Given the description of an element on the screen output the (x, y) to click on. 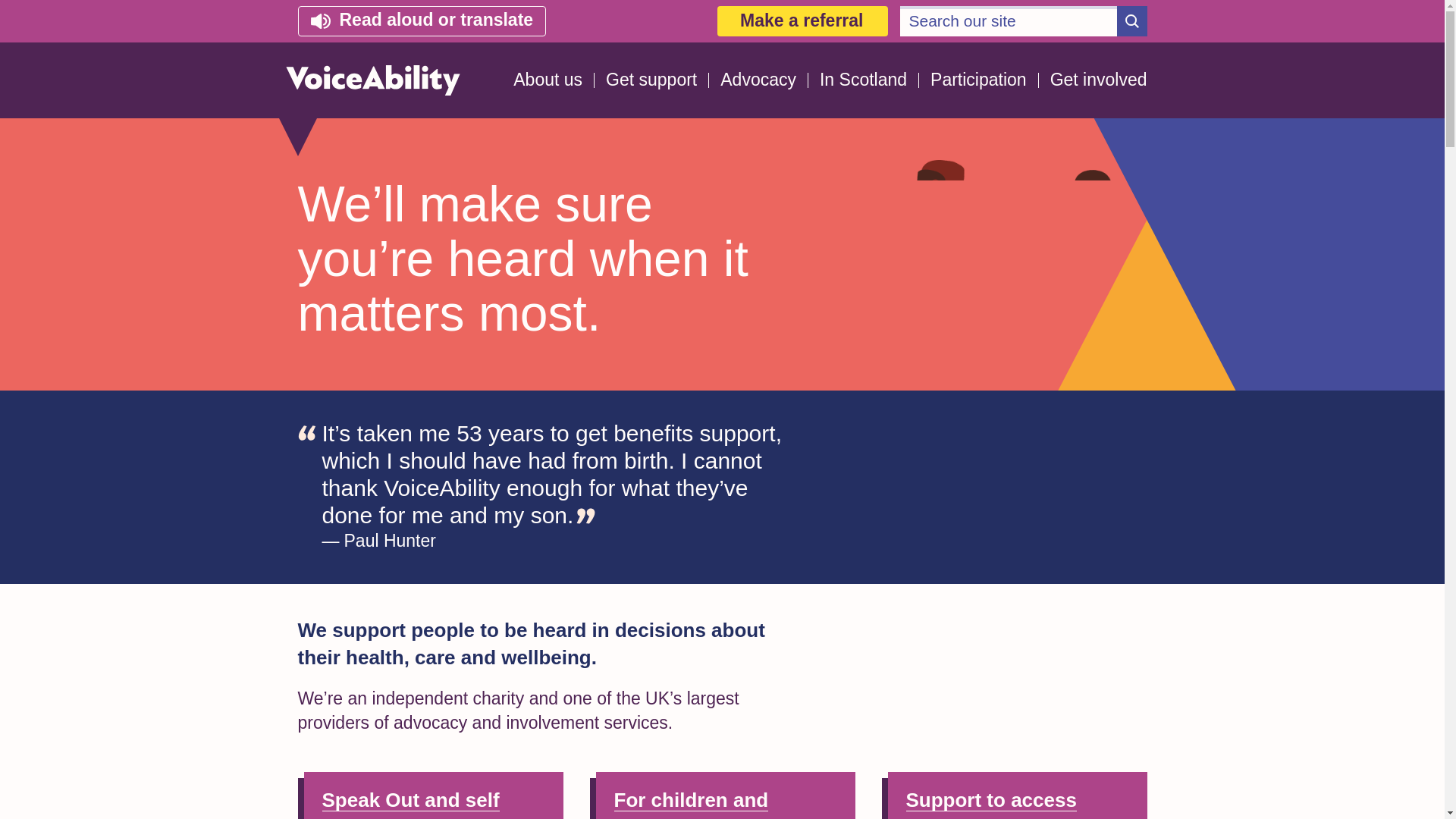
Go (1131, 20)
Make a referral (801, 20)
Go (1131, 20)
Go (1131, 20)
